Given the description of an element on the screen output the (x, y) to click on. 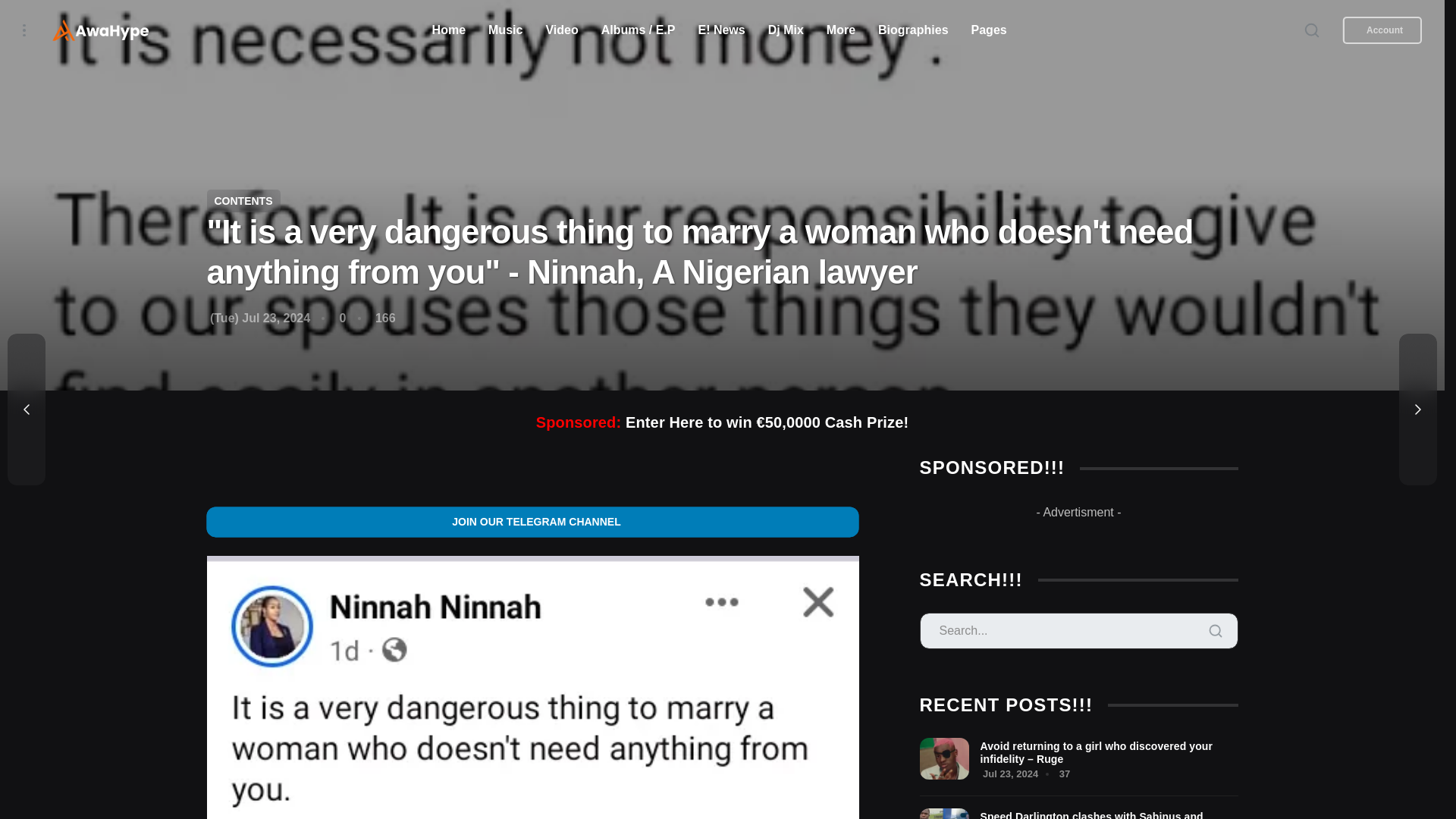
Dj Mix (786, 30)
Pages (988, 30)
Biographies (912, 30)
Home (448, 30)
JOIN OUR TELEGRAM CHANNEL (532, 521)
Music (505, 30)
CONTENTS (243, 200)
Video (561, 30)
  Account (1382, 30)
E! News (720, 30)
